Given the description of an element on the screen output the (x, y) to click on. 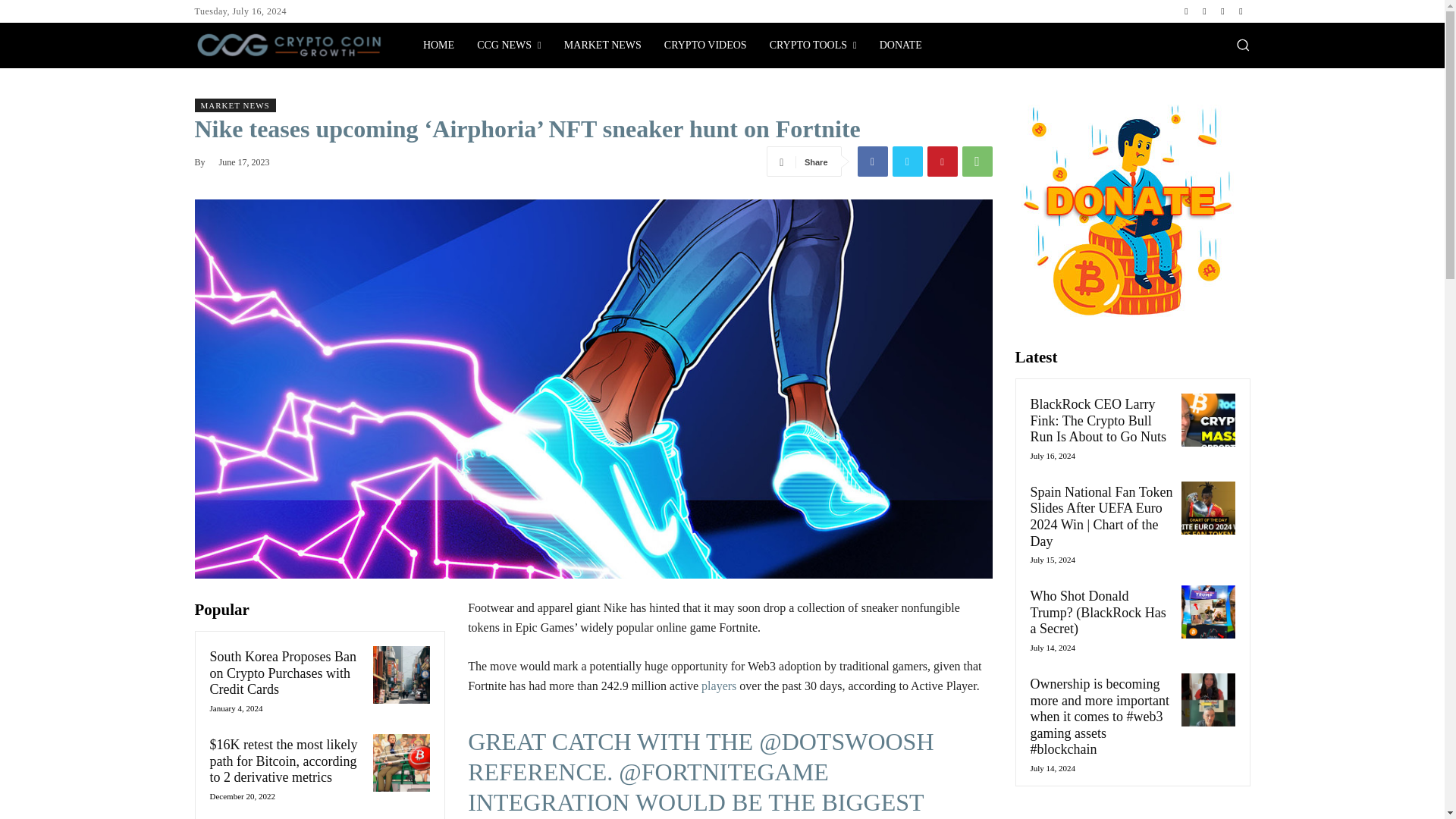
Twitter (1221, 11)
CRYPTO TOOLS (812, 44)
CRYPTO VIDEOS (705, 44)
DONATE (900, 44)
Youtube (1240, 11)
Instagram (1203, 11)
Crypto Coin Growth News and Updates (438, 44)
Facebook (1185, 11)
Donate crypto to help the project (900, 44)
HOME (438, 44)
CCG NEWS (509, 44)
MARKET NEWS (602, 44)
